Given the description of an element on the screen output the (x, y) to click on. 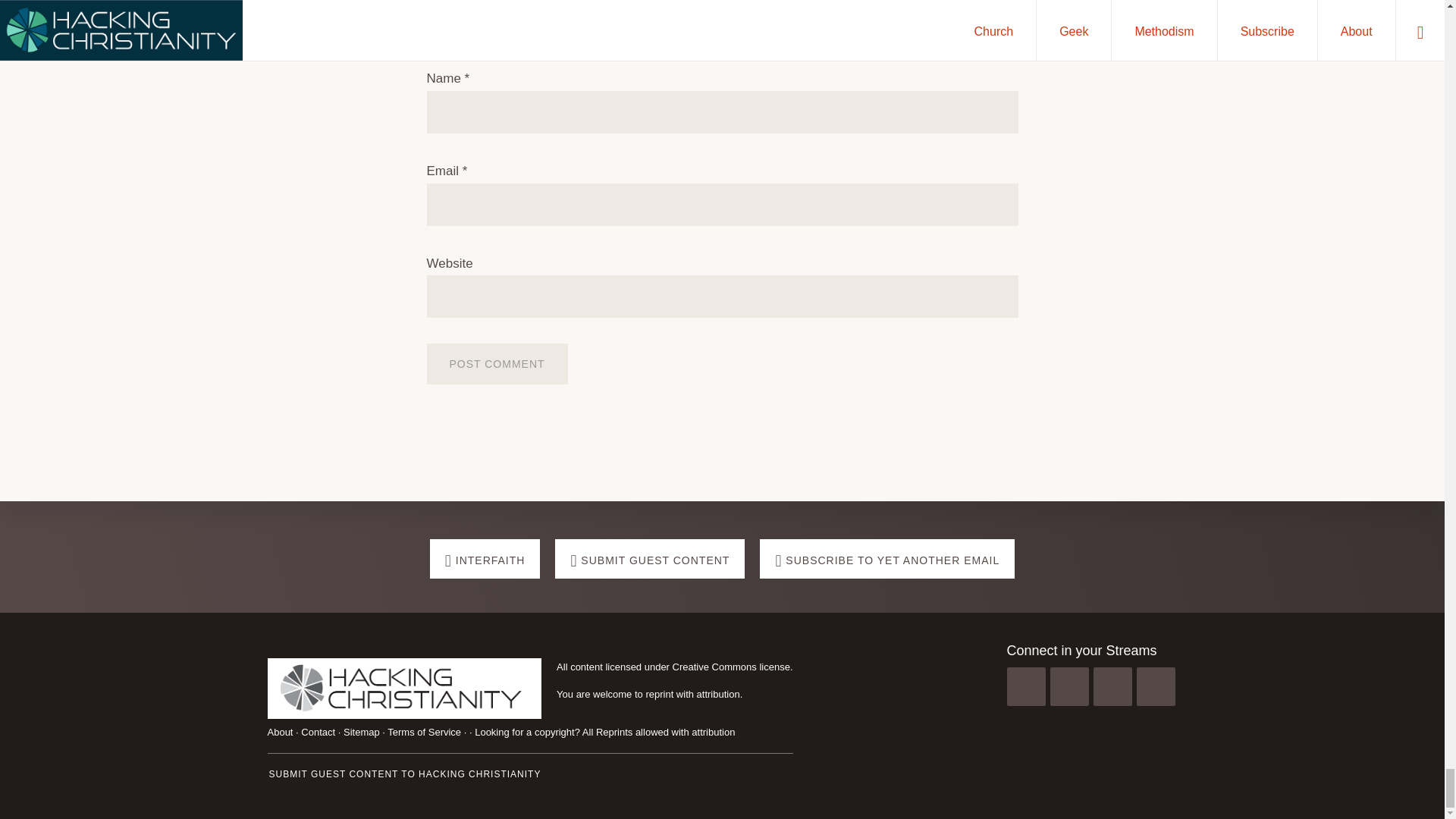
Post Comment (496, 363)
